Given the description of an element on the screen output the (x, y) to click on. 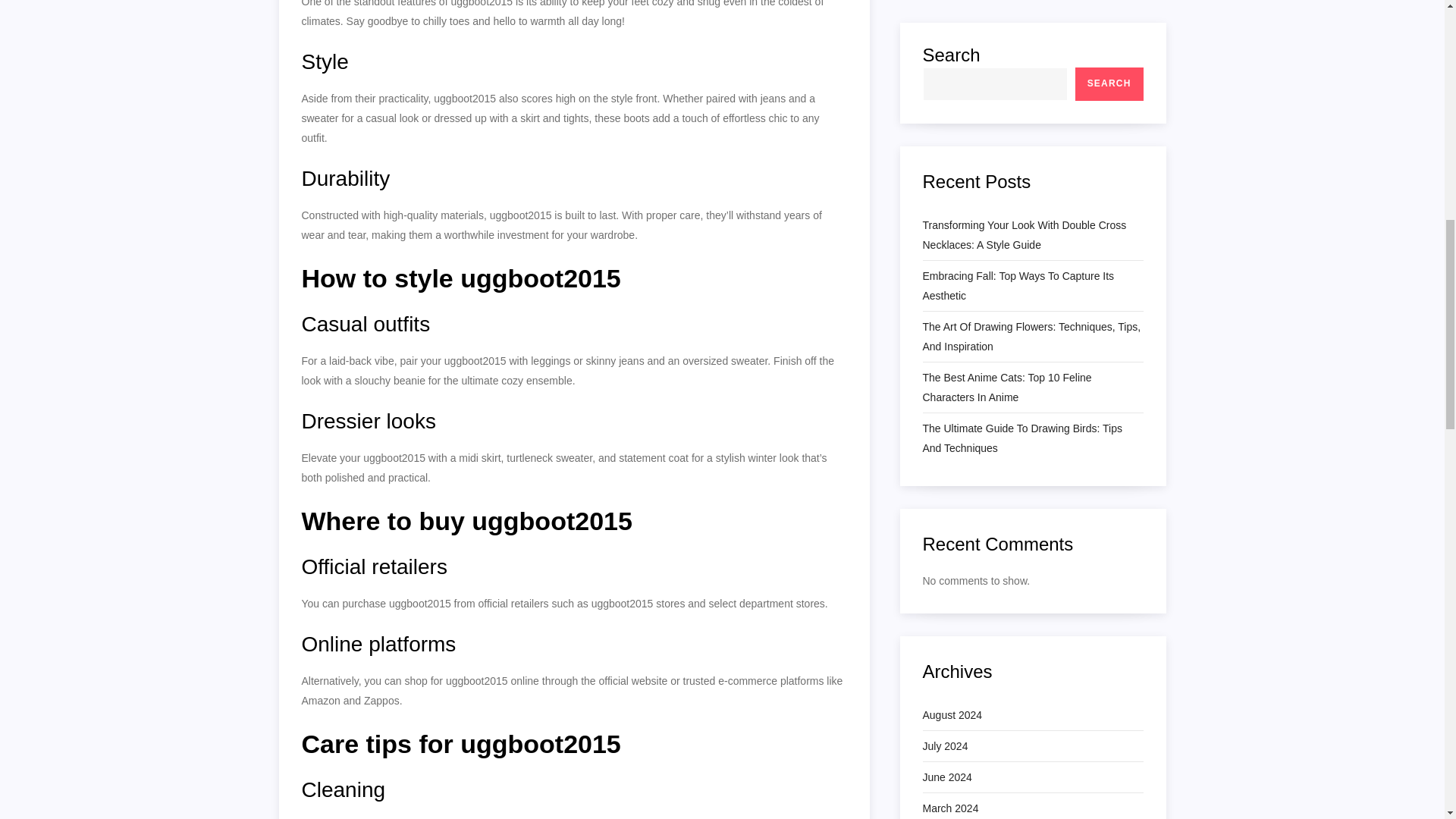
Biography (945, 524)
January 2024 (954, 198)
Fashion (940, 711)
Fitness (938, 772)
August 2023 (951, 353)
Color (934, 587)
October 2023 (954, 291)
August 2024 (951, 43)
Drawing (940, 618)
September 2023 (961, 322)
